Given the description of an element on the screen output the (x, y) to click on. 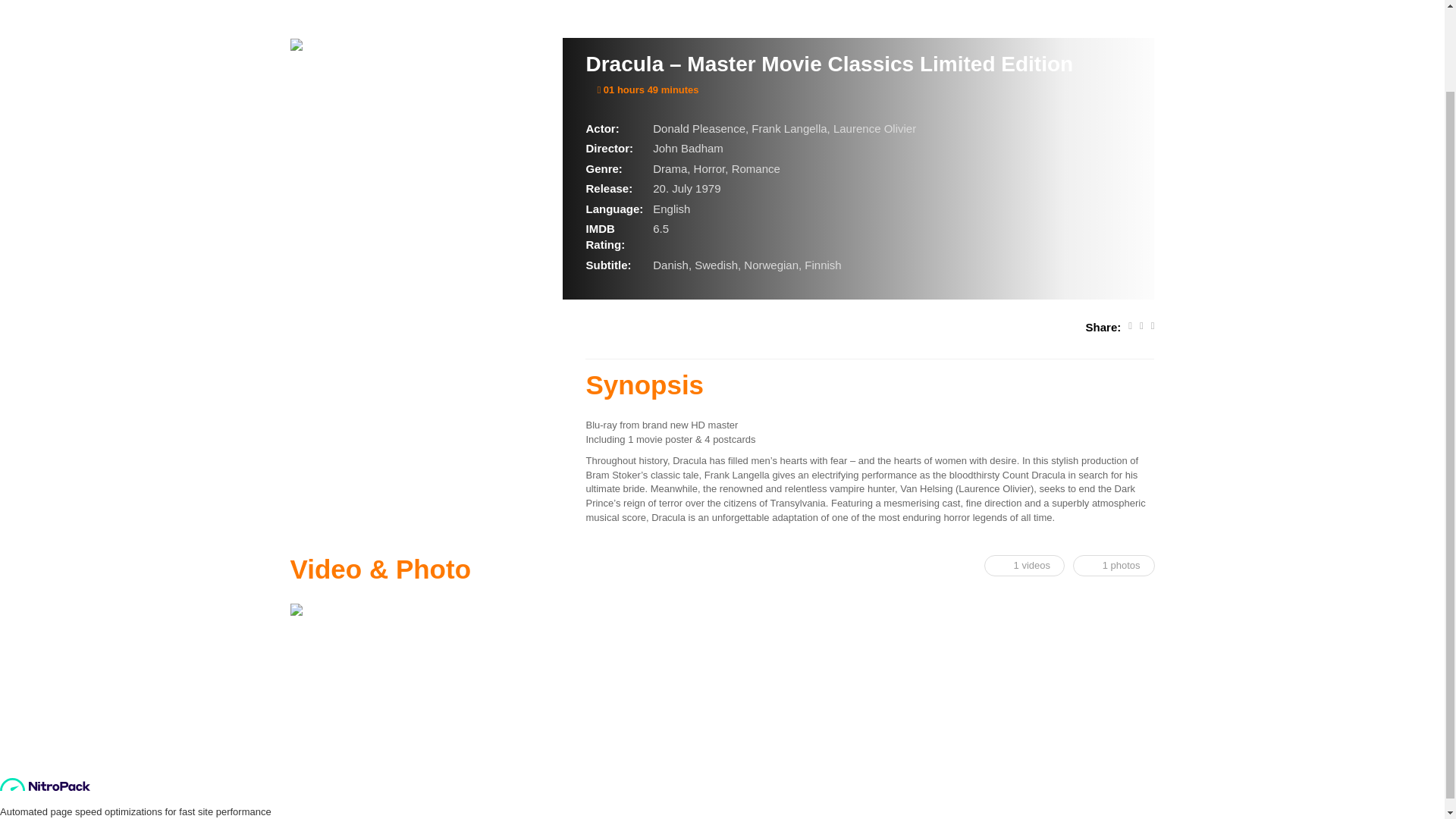
Horror (709, 168)
Laurence Olivier (873, 128)
Drama (669, 168)
John Badham (687, 147)
Frank Langella (789, 128)
Donald Pleasence (698, 128)
Romance (756, 168)
